Given the description of an element on the screen output the (x, y) to click on. 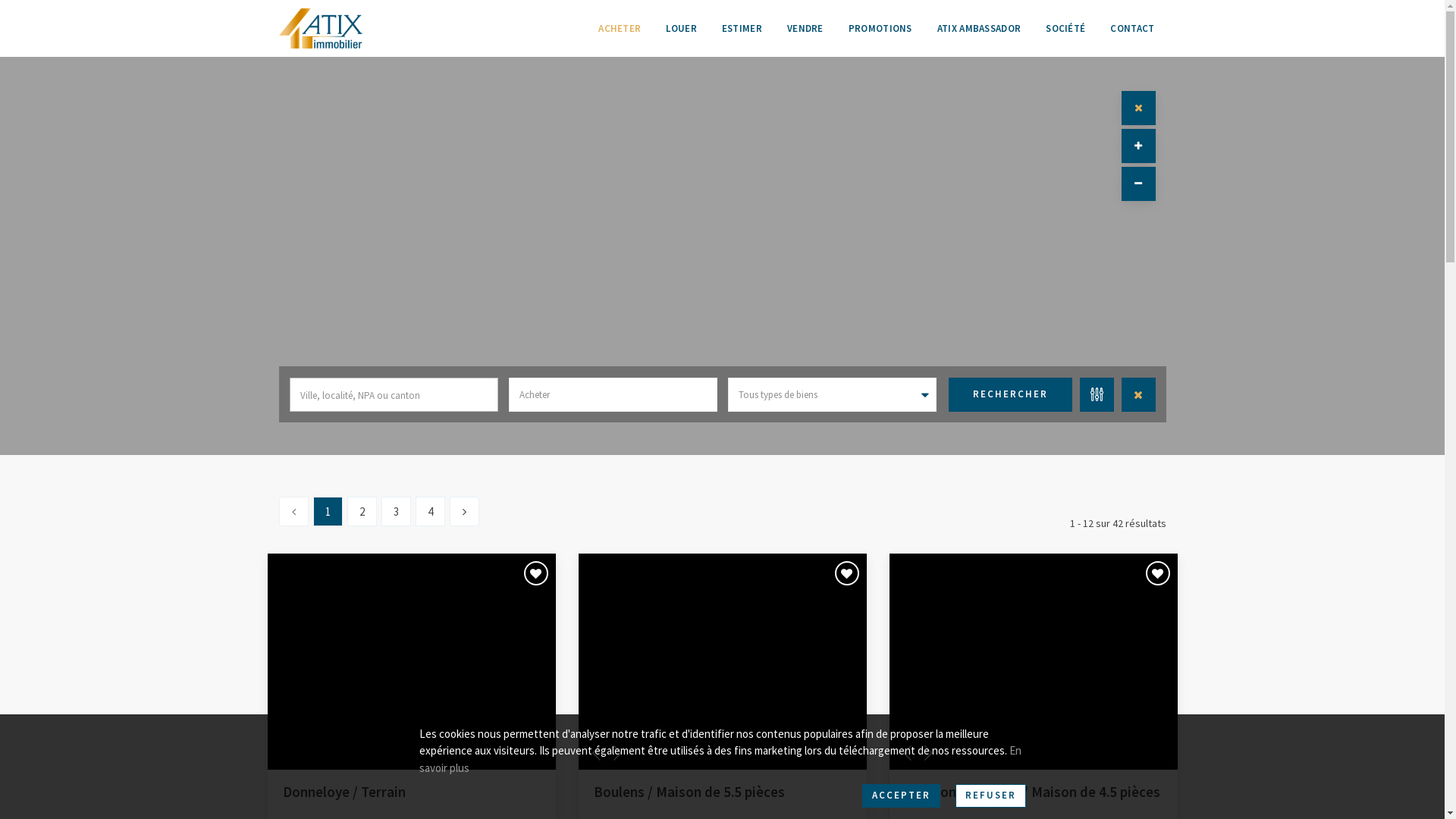
REFUSER Element type: text (990, 795)
ACHETER Element type: text (619, 28)
RECHERCHER Element type: text (1009, 394)
VENDRE Element type: text (804, 28)
En savoir plus Element type: text (719, 759)
3 Element type: text (395, 511)
LOUER Element type: text (681, 28)
ATIX AMBASSADOR Element type: text (978, 28)
PROMOTIONS Element type: text (880, 28)
ESTIMER Element type: text (741, 28)
1 Element type: text (327, 511)
CONTACT Element type: text (1131, 28)
2 Element type: text (361, 511)
4 Element type: text (430, 511)
ACCEPTER Element type: text (900, 795)
